Given the description of an element on the screen output the (x, y) to click on. 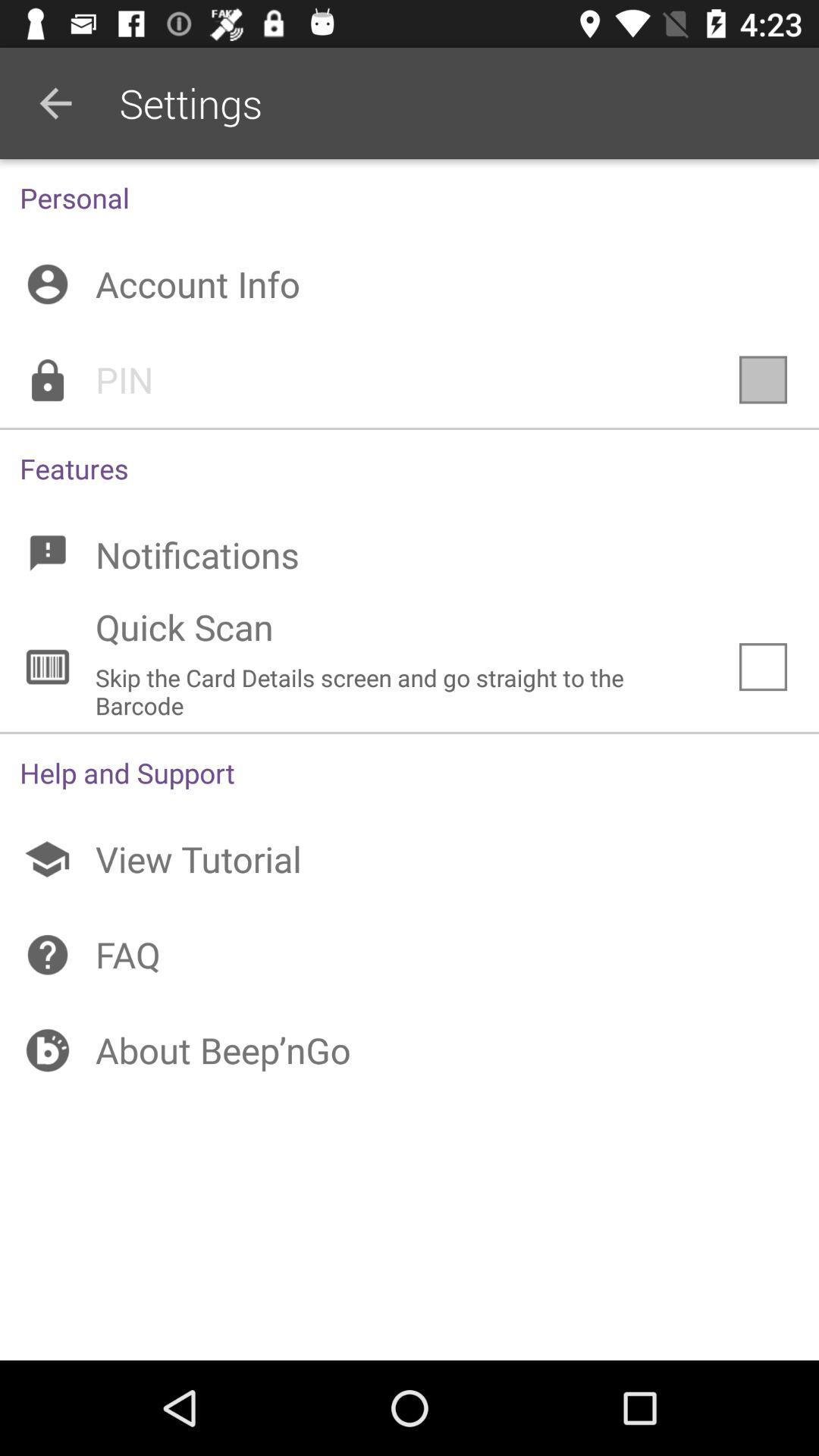
tap the app to the left of the settings icon (55, 103)
